Given the description of an element on the screen output the (x, y) to click on. 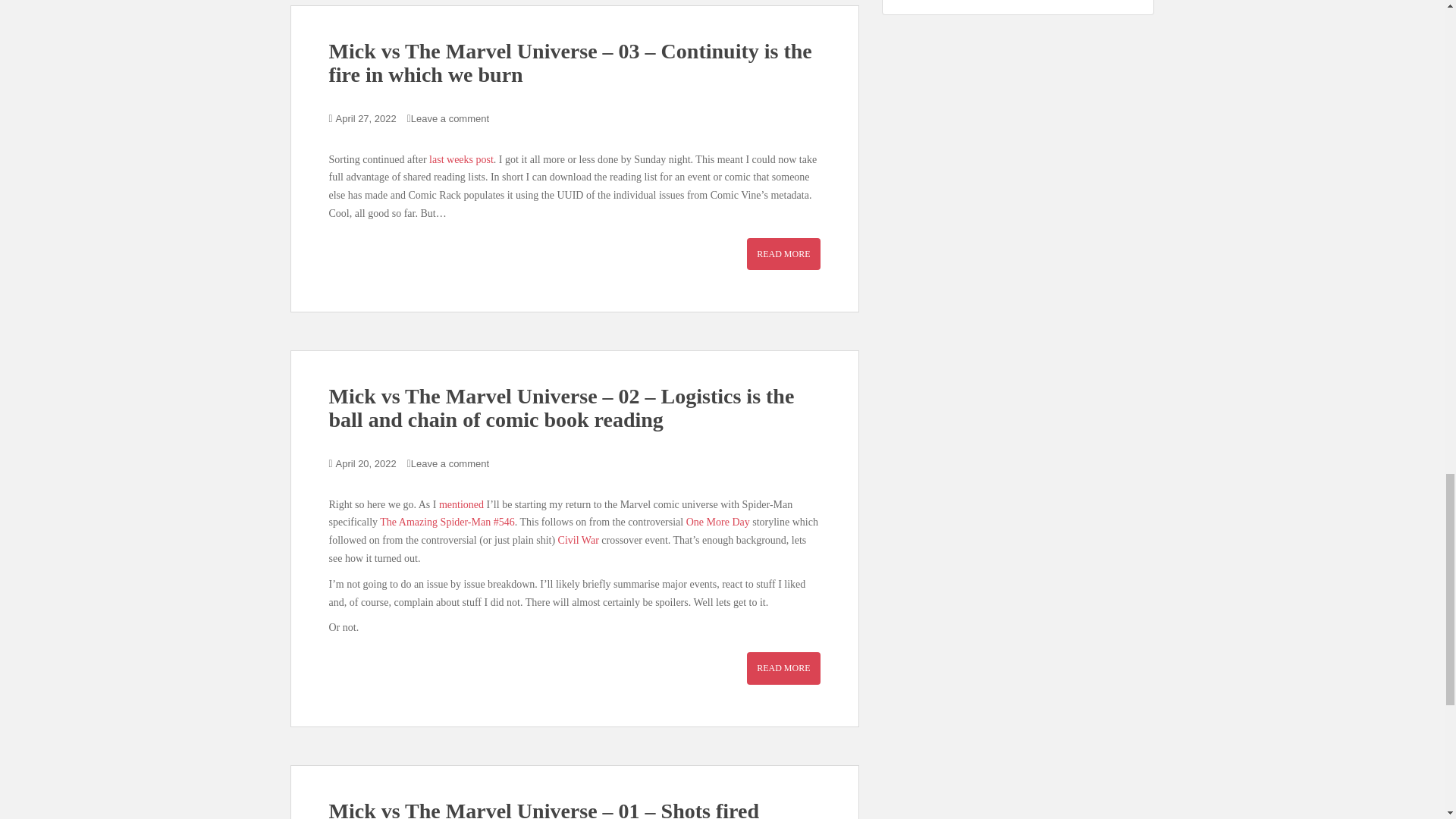
April 27, 2022 (366, 118)
Leave a comment (449, 463)
READ MORE (782, 254)
mentioned (461, 504)
April 20, 2022 (366, 463)
Leave a comment (449, 118)
last weeks post (461, 159)
